Given the description of an element on the screen output the (x, y) to click on. 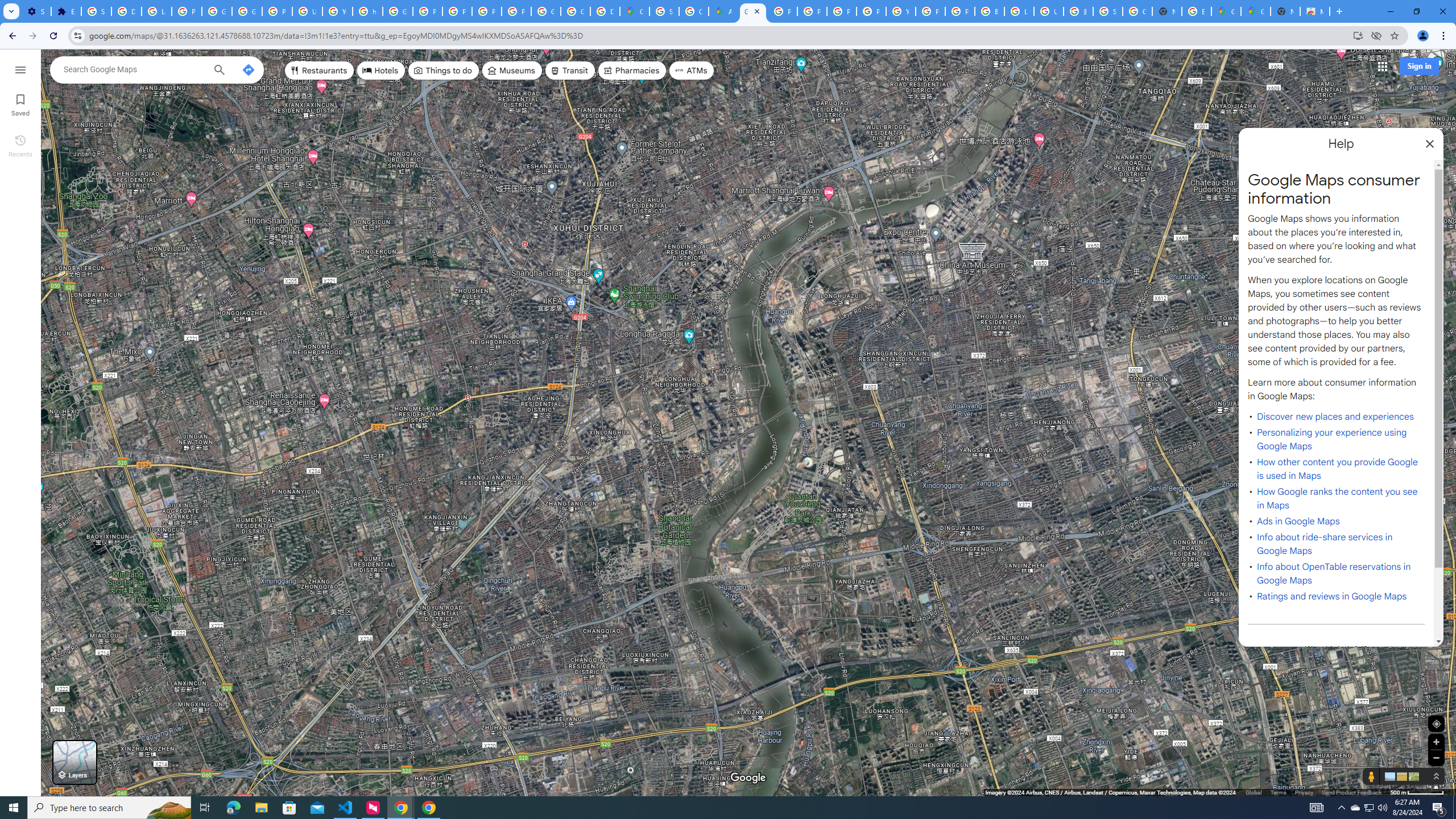
Directions (247, 69)
YouTube (900, 11)
Policy Accountability and Transparency - Transparency Center (782, 11)
Zoom out (1436, 757)
Ads in Google Maps (1297, 521)
